Given the description of an element on the screen output the (x, y) to click on. 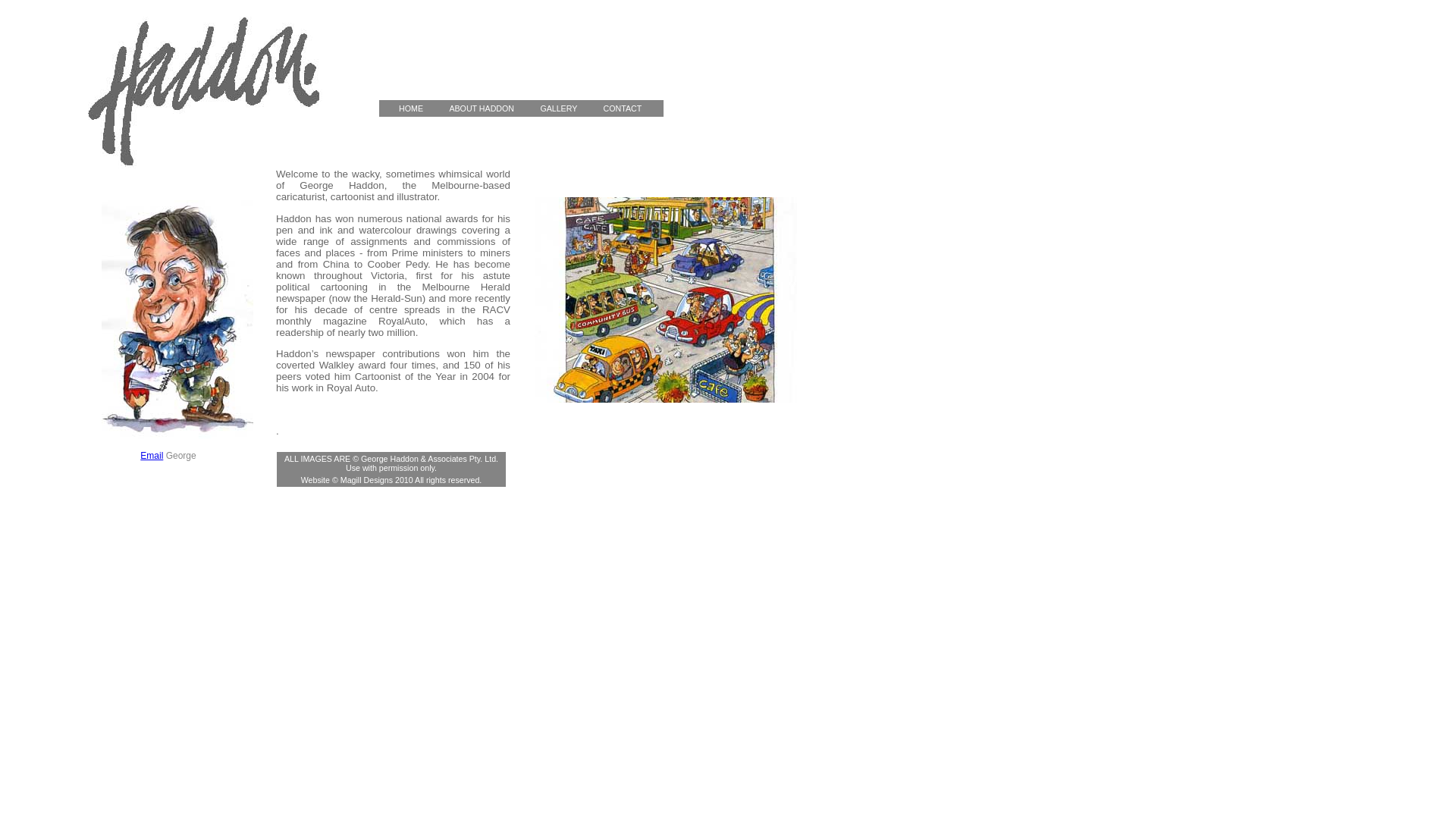
GALLERY         Element type: text (567, 108)
ABOUT HADDON         Element type: text (490, 108)
       HOME         Element type: text (412, 108)
CONTACT         Element type: text (631, 108)
Email Element type: text (151, 455)
